Given the description of an element on the screen output the (x, y) to click on. 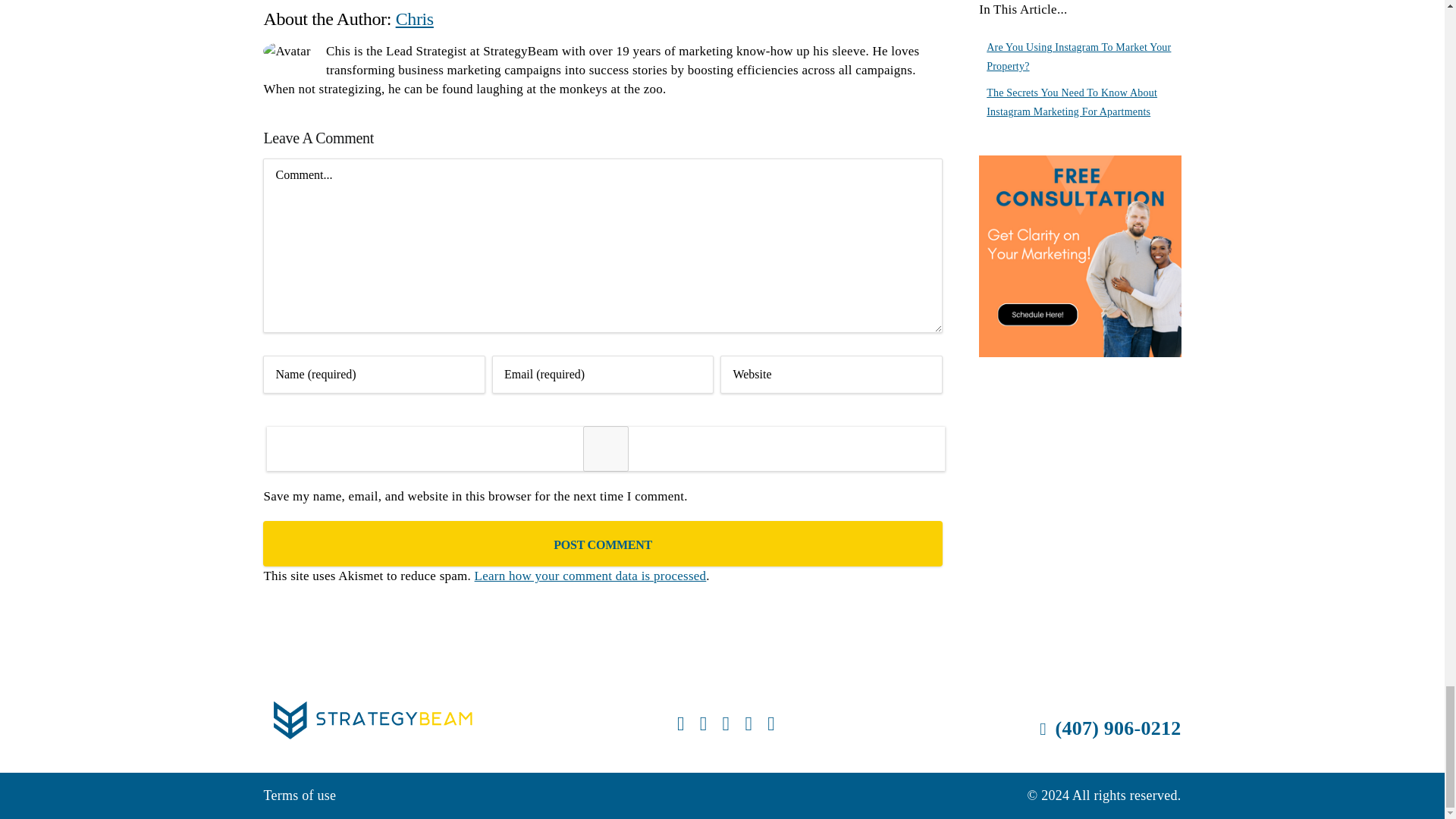
Post Comment (602, 543)
Learn how your comment data is processed (590, 575)
Chris (414, 18)
Post Comment (602, 543)
yes (605, 448)
